Given the description of an element on the screen output the (x, y) to click on. 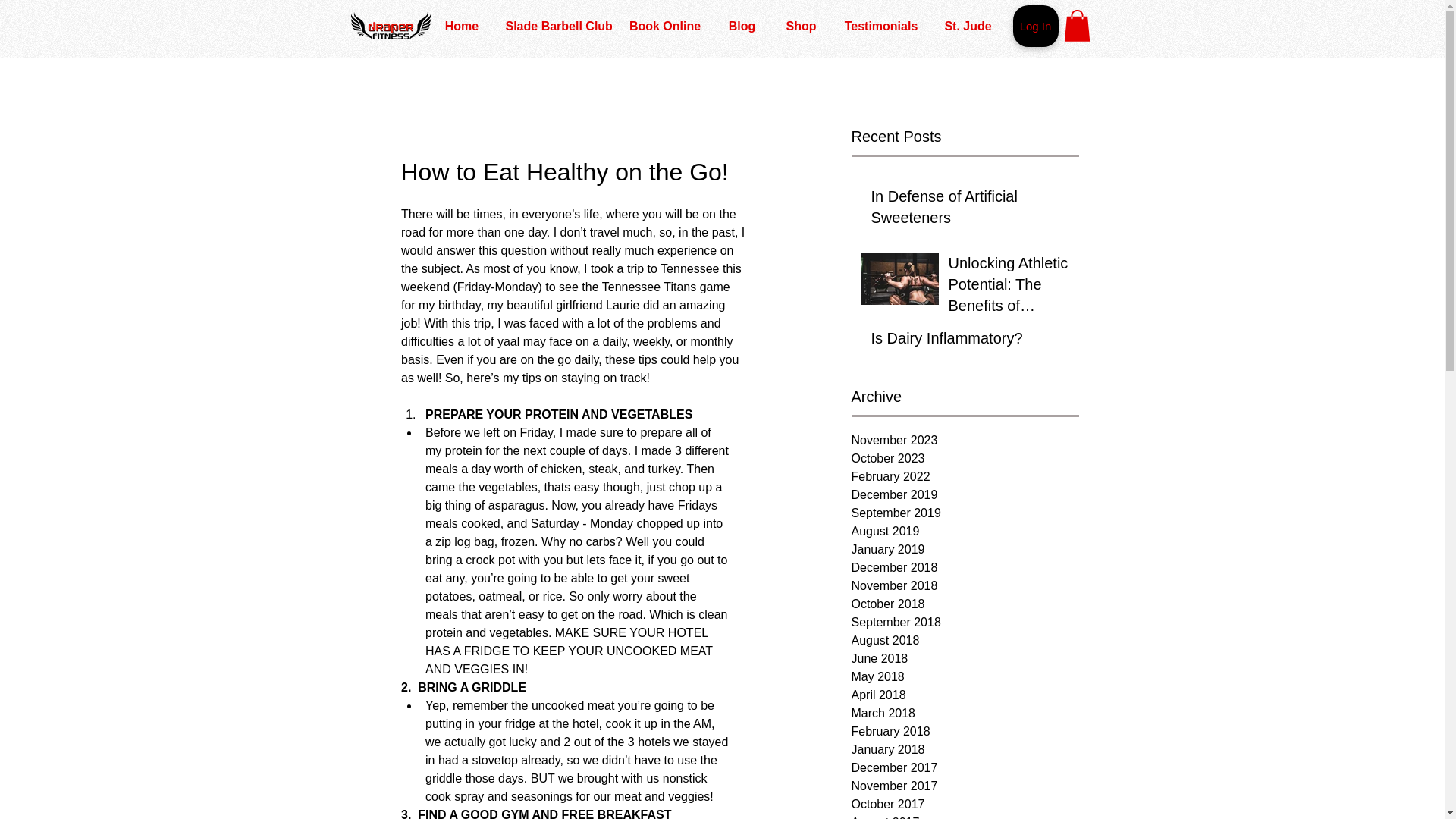
June 2018 (964, 659)
March 2018 (964, 713)
November 2023 (964, 440)
April 2018 (964, 695)
January 2018 (964, 750)
October 2018 (964, 604)
October 2017 (964, 804)
Shop (799, 26)
Blog (742, 26)
Slade Barbell Club (554, 26)
St. Jude (967, 26)
May 2018 (964, 677)
December 2019 (964, 495)
December 2018 (964, 567)
